Given the description of an element on the screen output the (x, y) to click on. 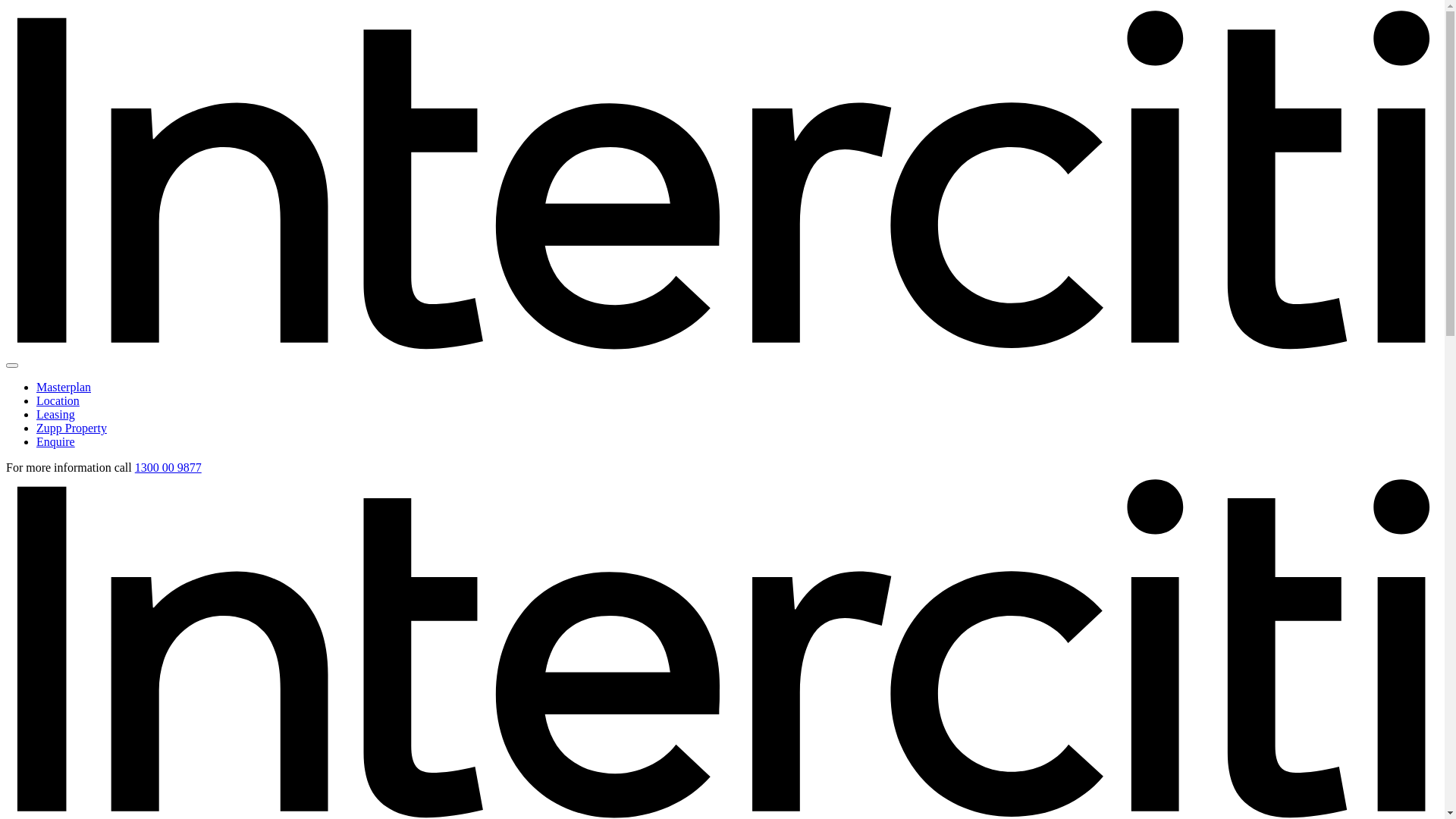
Leasing Element type: text (55, 413)
Zupp Property Element type: text (71, 427)
Masterplan Element type: text (63, 386)
Location Element type: text (57, 400)
Enquire Element type: text (55, 441)
1300 00 9877 Element type: text (167, 467)
